Given the description of an element on the screen output the (x, y) to click on. 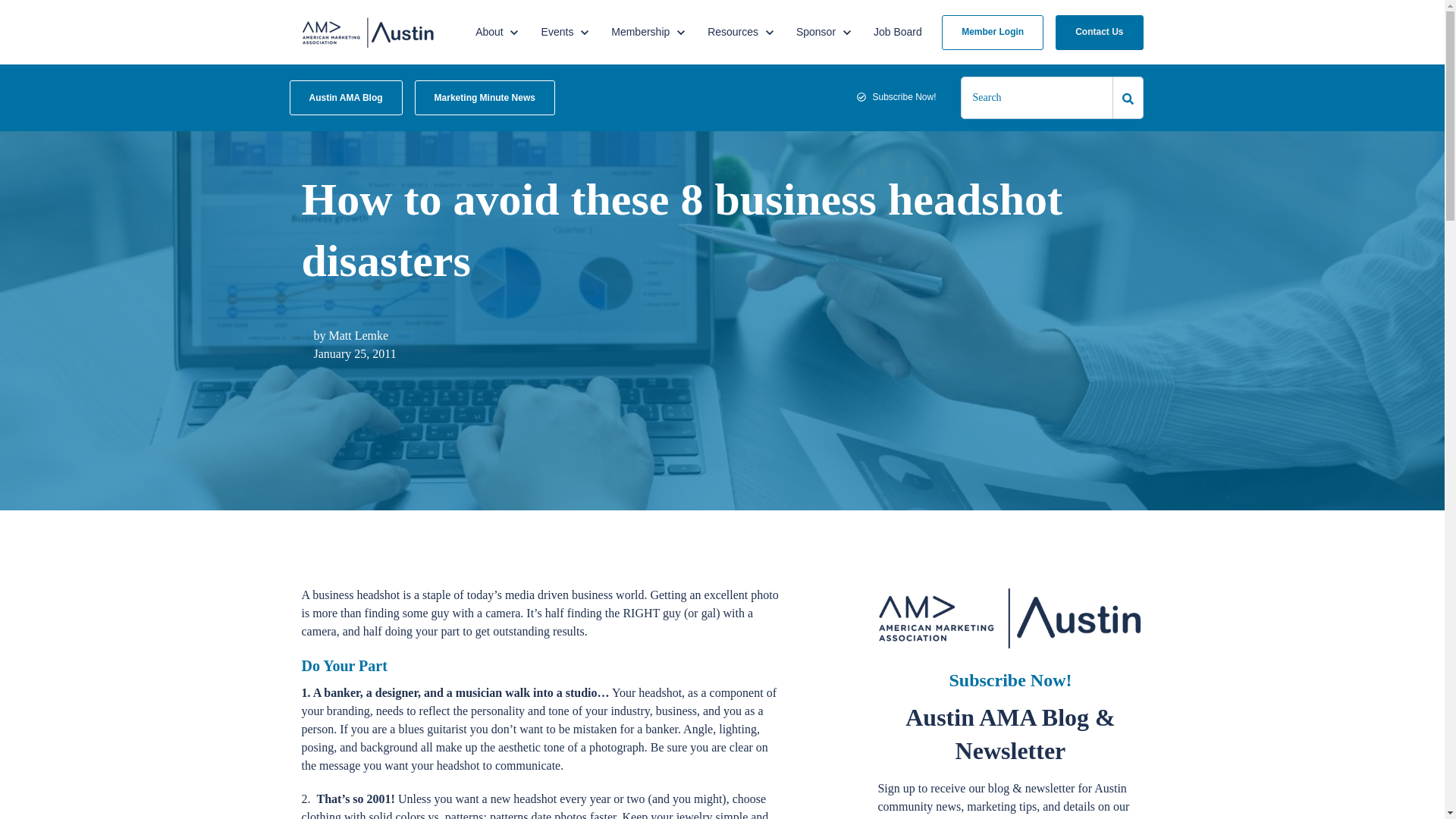
Job Board (647, 32)
